Given the description of an element on the screen output the (x, y) to click on. 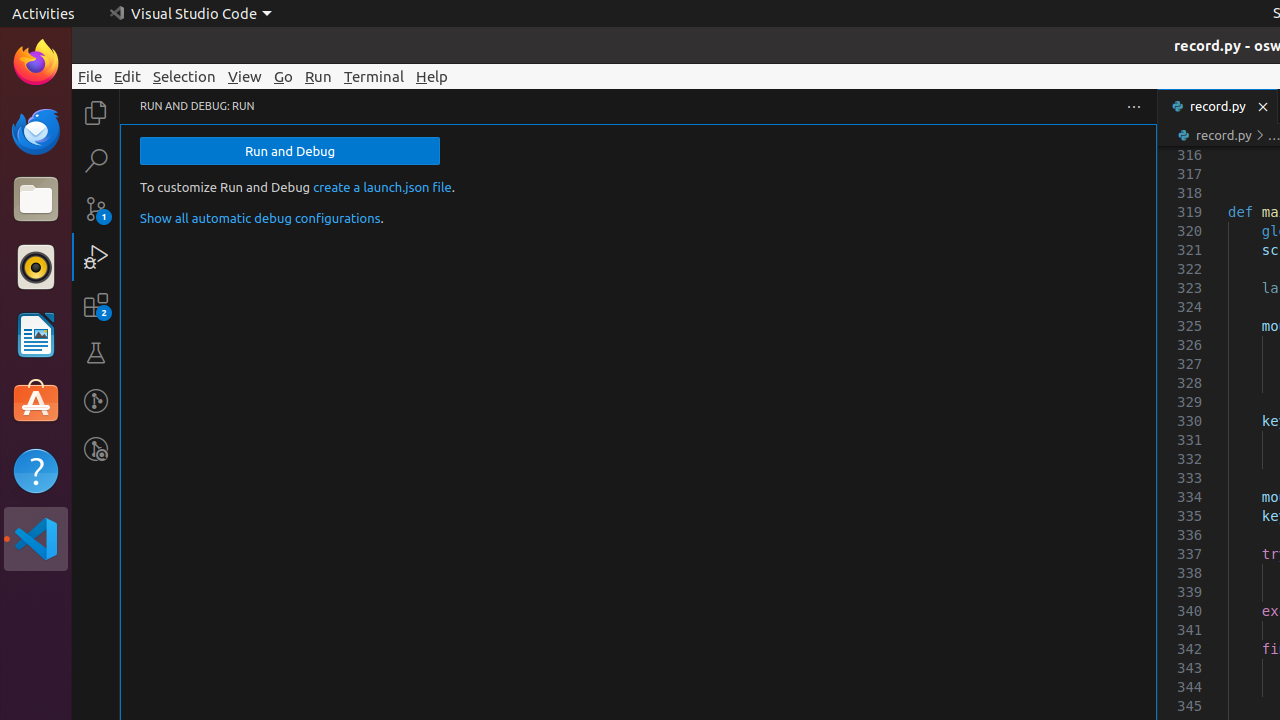
Search (Ctrl+Shift+F) Element type: page-tab (96, 160)
Show all automatic debug configurations Element type: push-button (260, 218)
Run Element type: push-button (318, 76)
GitLens Inspect Element type: page-tab (96, 449)
